Given the description of an element on the screen output the (x, y) to click on. 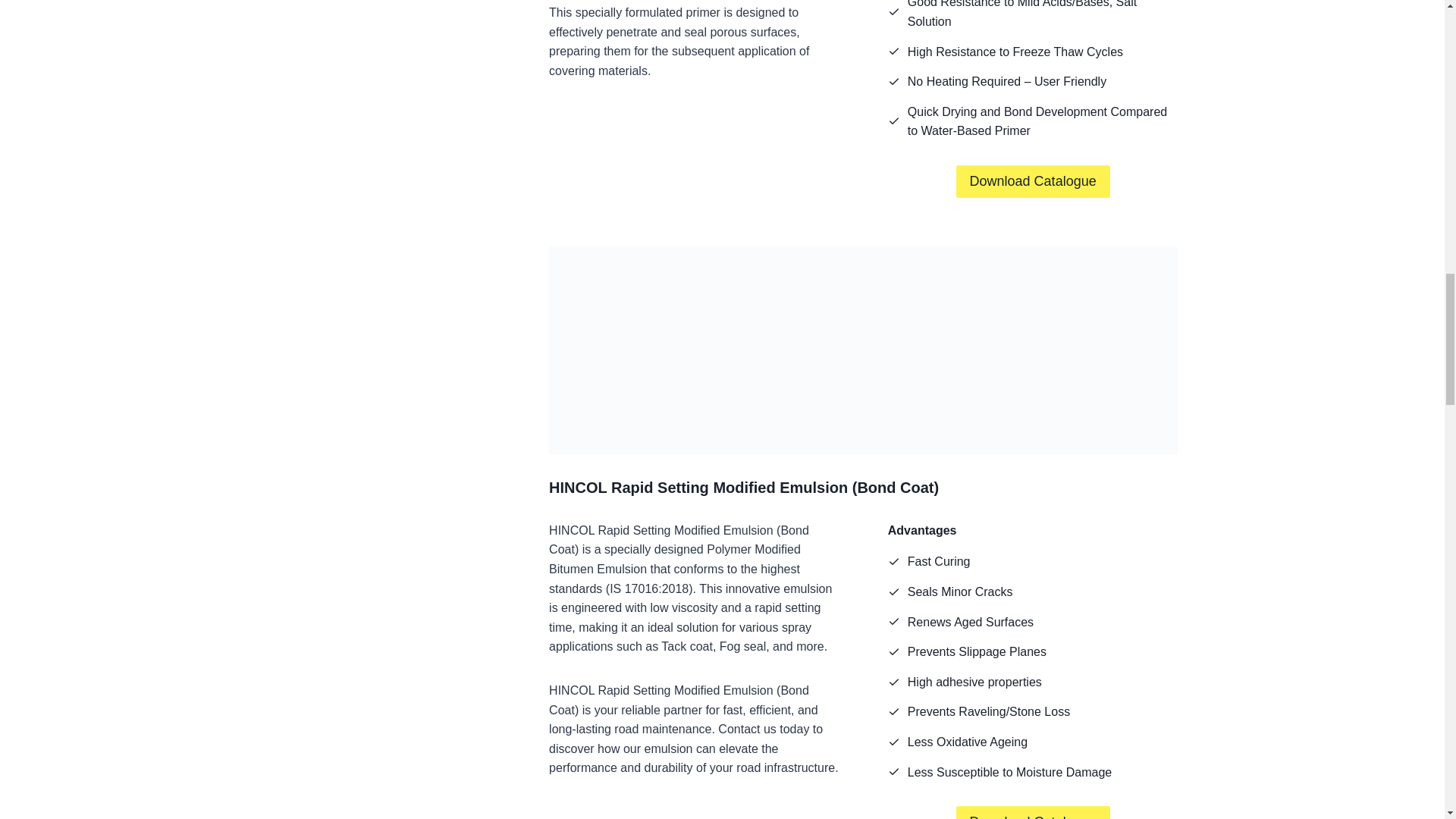
Download Catalogue (1032, 812)
Download Catalogue (1032, 181)
